Given the description of an element on the screen output the (x, y) to click on. 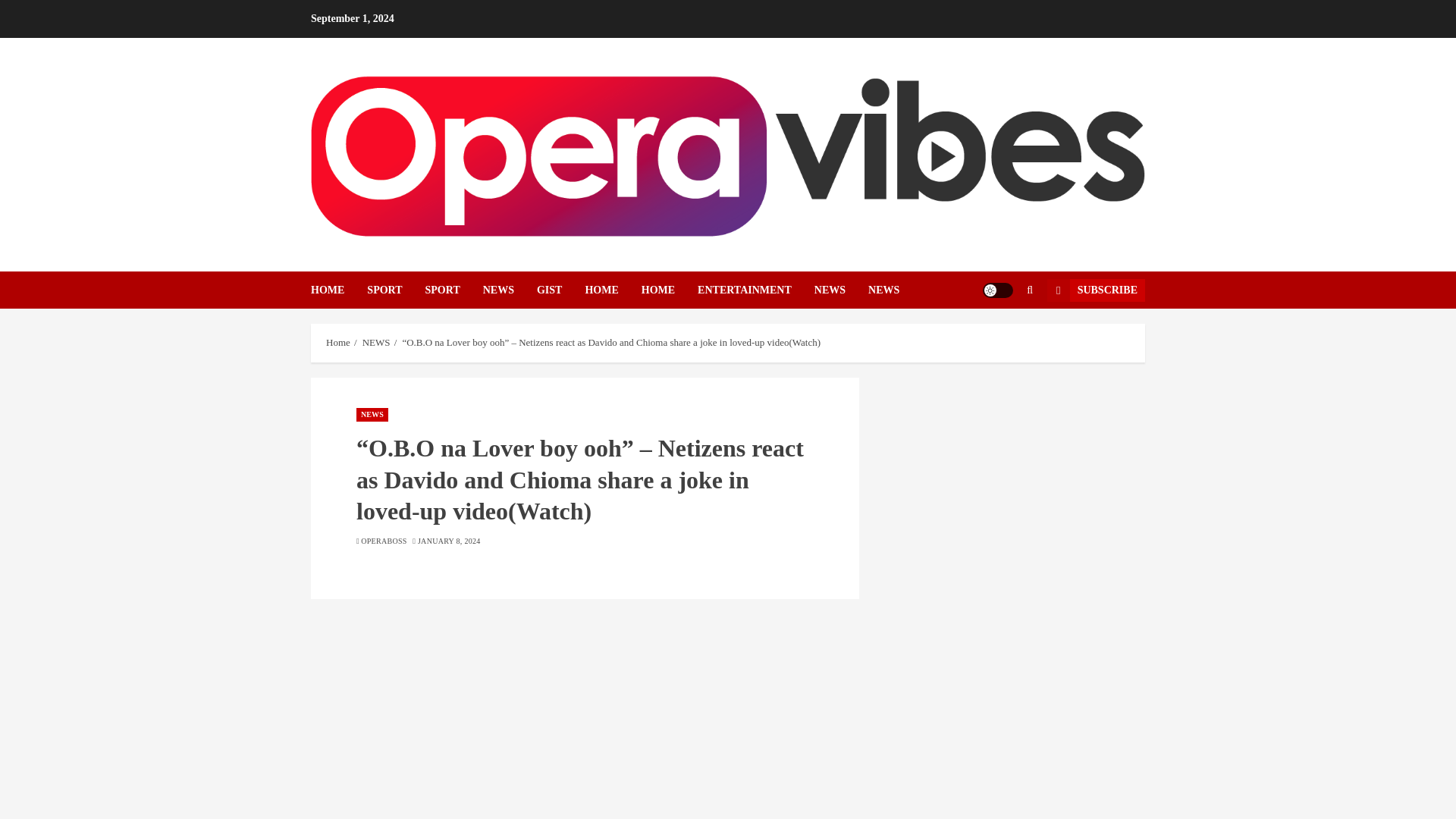
SPORT (454, 289)
HOME (669, 289)
HOME (612, 289)
NEWS (840, 289)
NEWS (372, 414)
Search (999, 335)
ENTERTAINMENT (755, 289)
Home (338, 342)
GIST (561, 289)
HOME (338, 289)
